Given the description of an element on the screen output the (x, y) to click on. 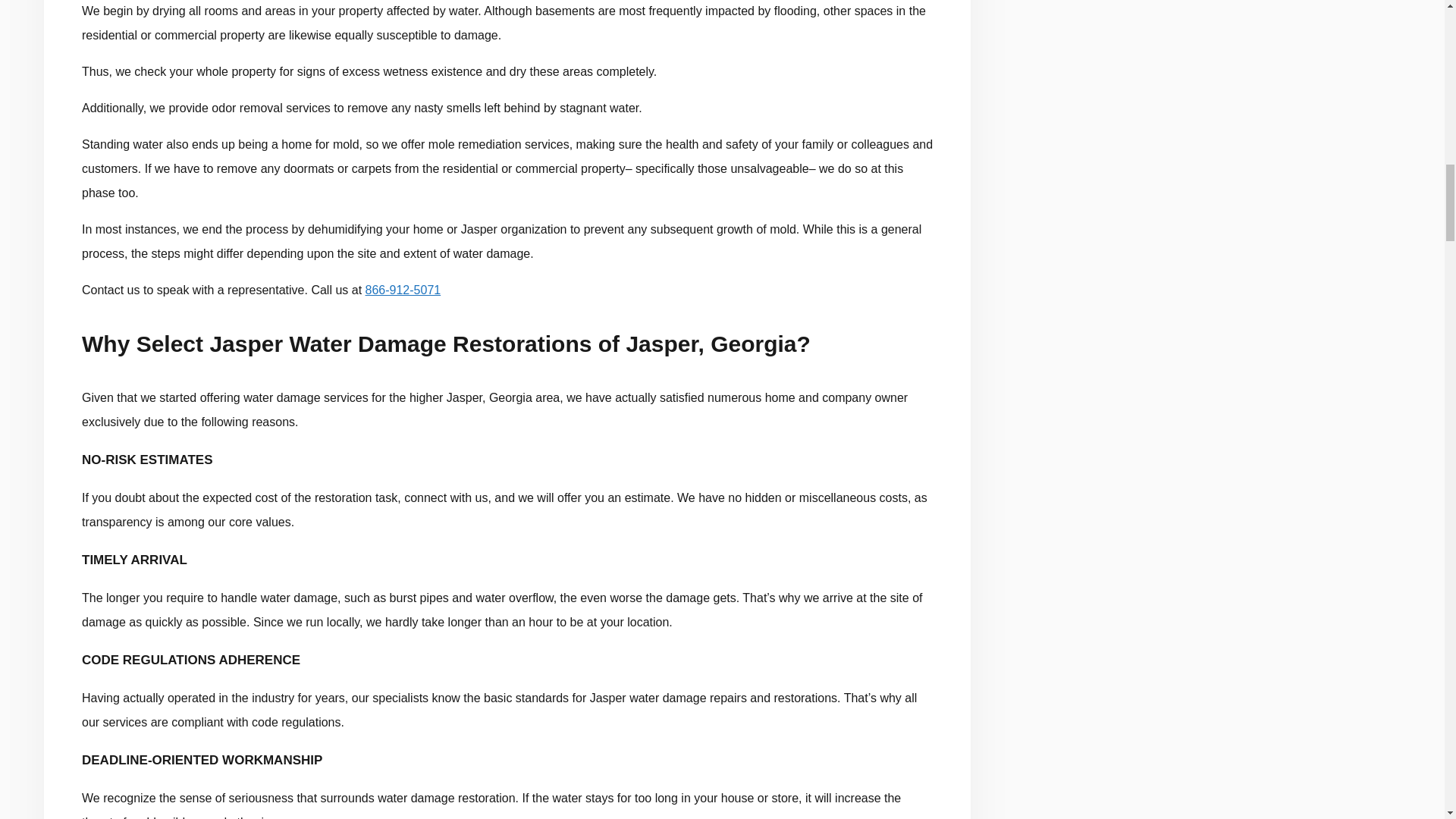
866-912-5071 (403, 289)
